Given the description of an element on the screen output the (x, y) to click on. 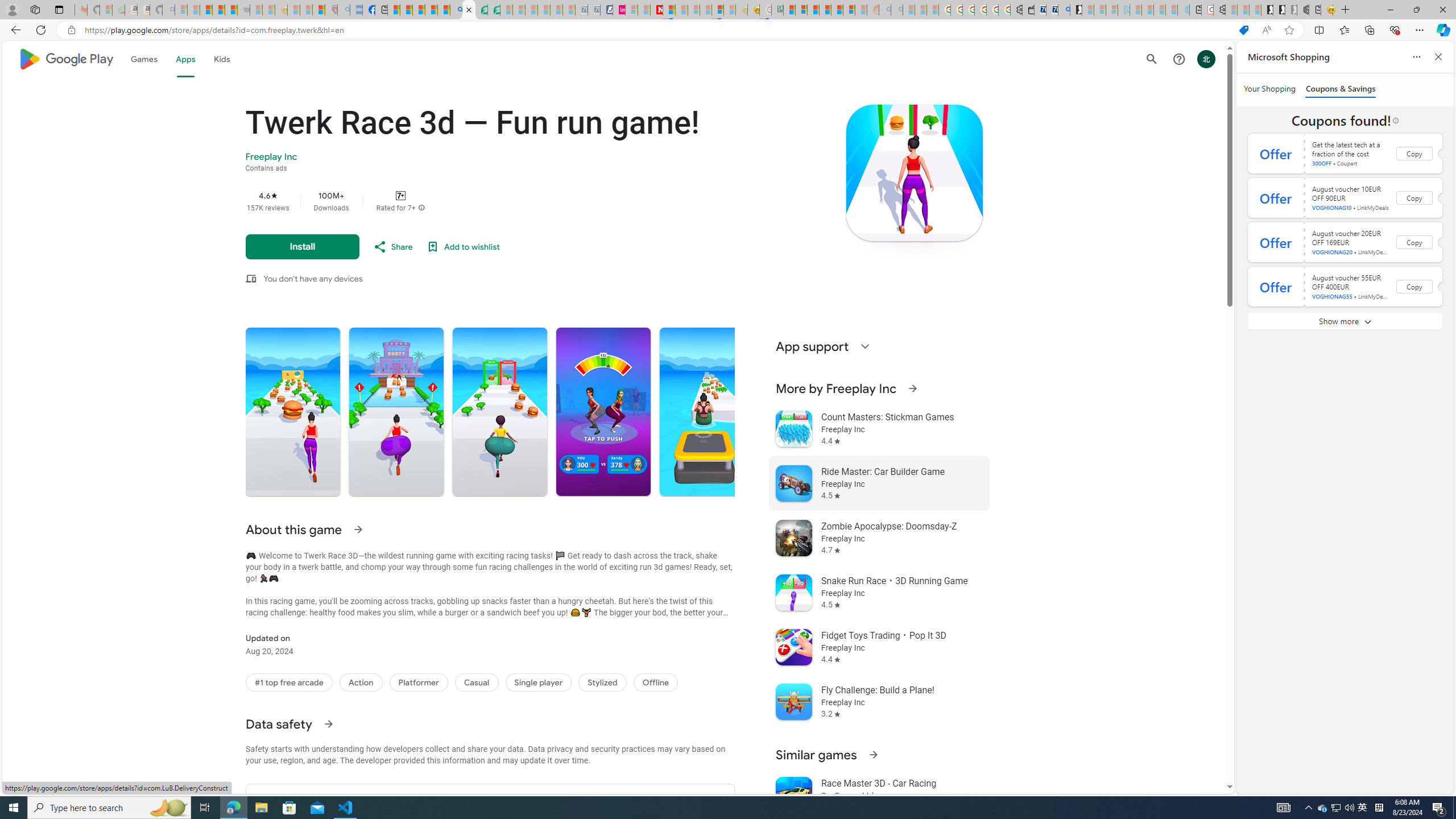
Microsoft Word - consumer-privacy address update 2.2021 (494, 9)
#1 top free arcade (288, 682)
Screenshot image (706, 411)
